Given the description of an element on the screen output the (x, y) to click on. 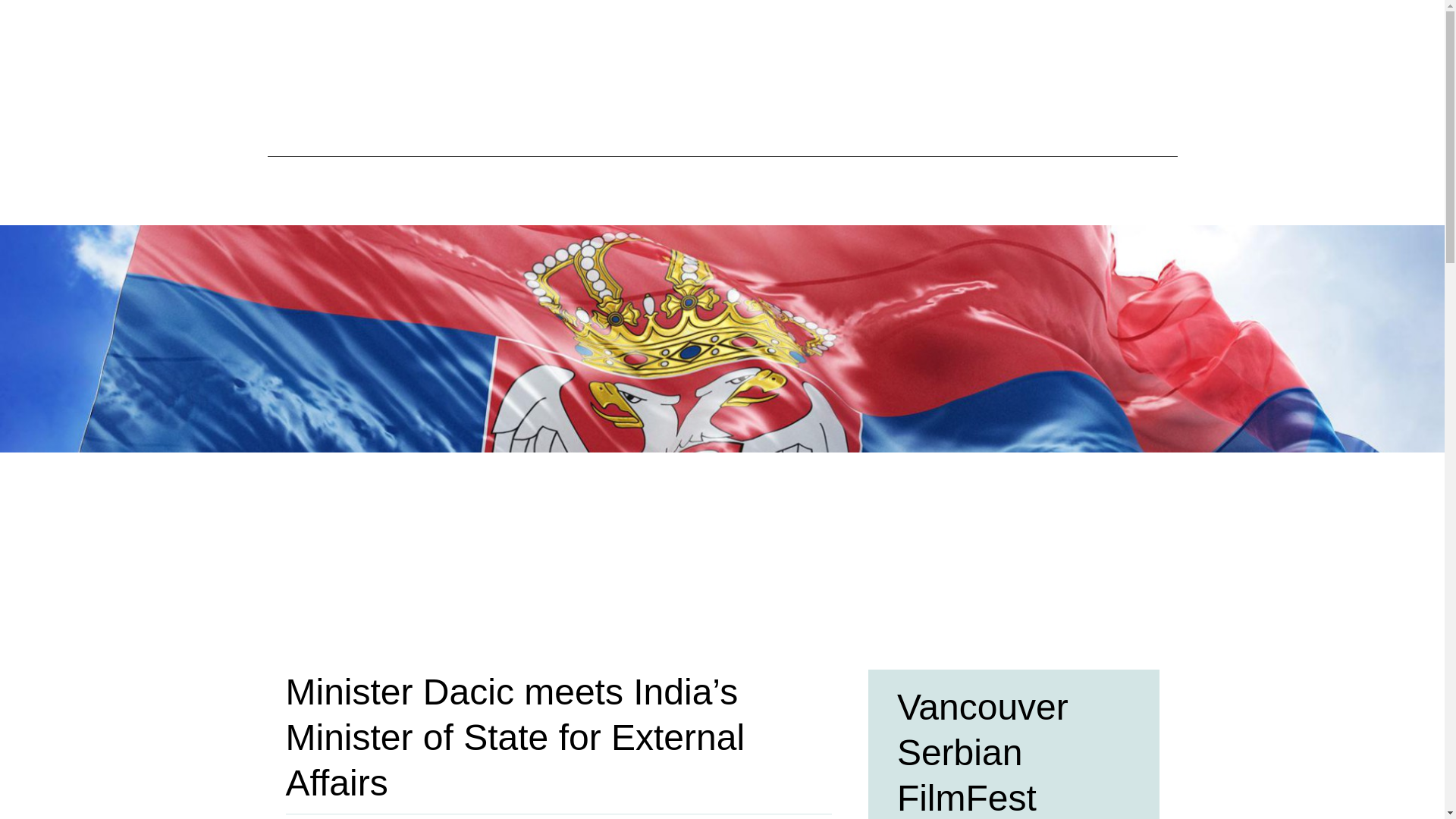
Contact (963, 190)
Home (464, 190)
MFA Information (767, 190)
Konzulat Republike Srbije Vancouver, British Columbia (722, 77)
Vesti (876, 190)
